Given the description of an element on the screen output the (x, y) to click on. 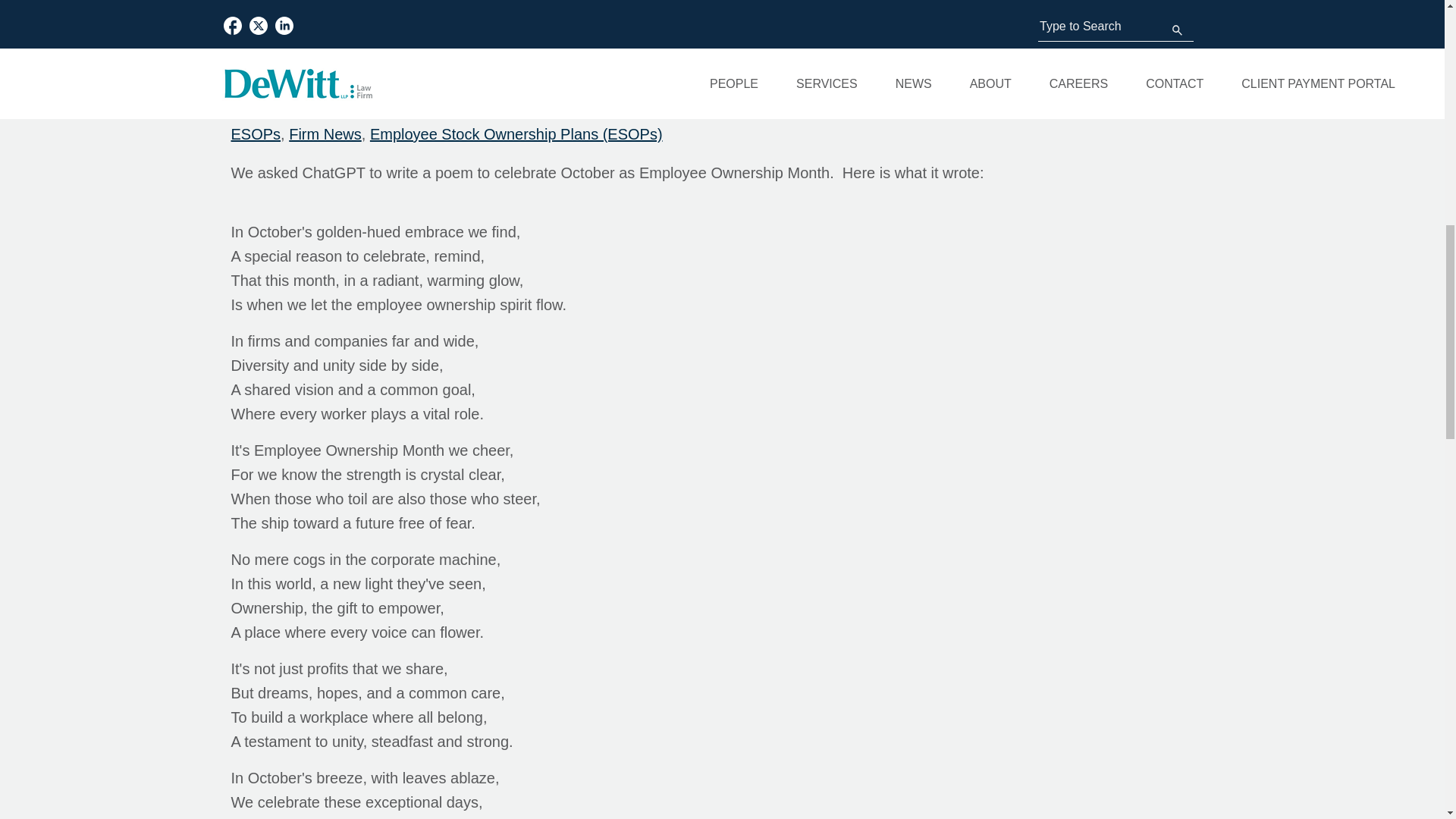
ESOPs (255, 134)
Firm News (324, 134)
